Given the description of an element on the screen output the (x, y) to click on. 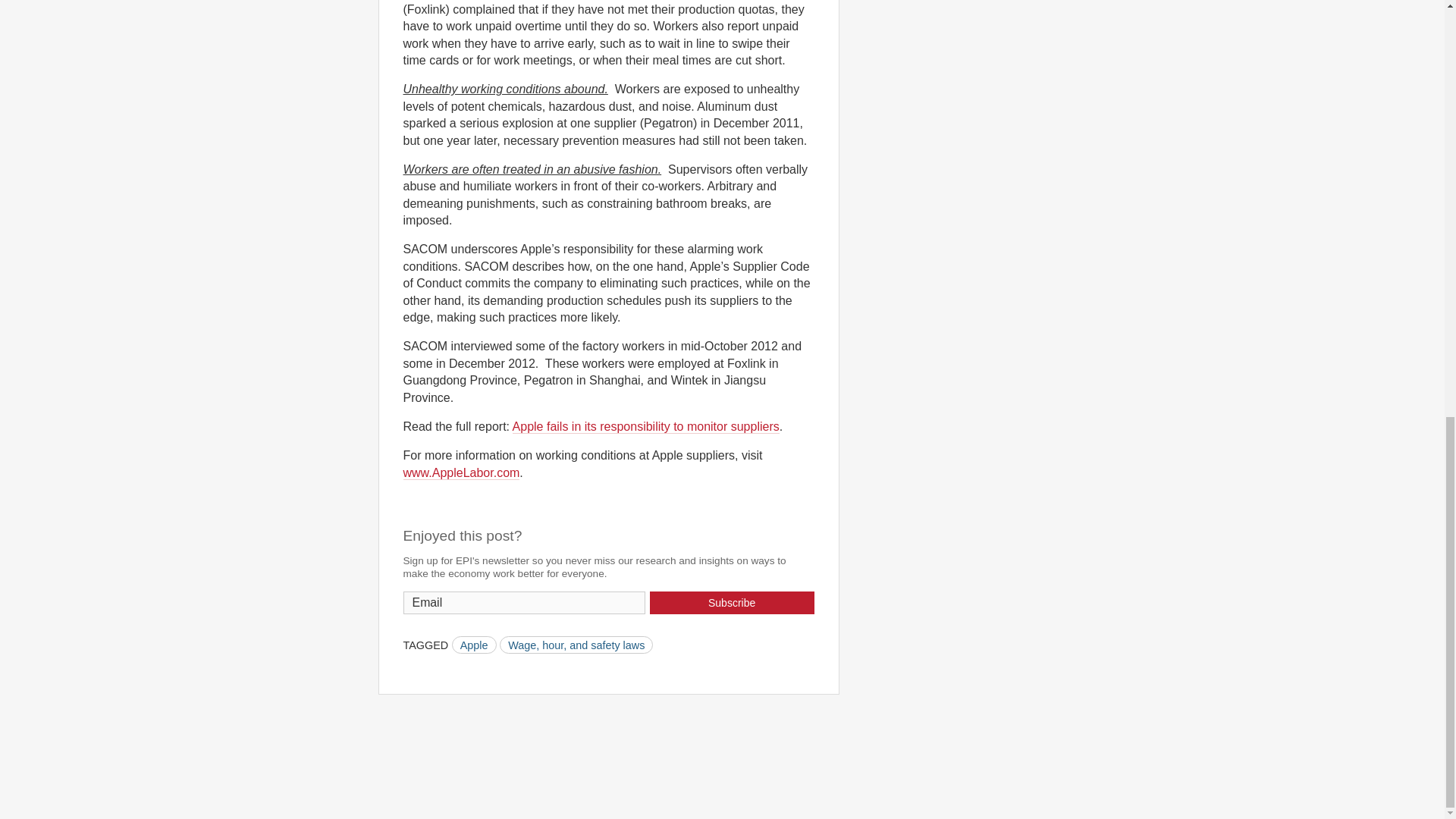
Email (524, 602)
Subscribe (731, 602)
